Given the description of an element on the screen output the (x, y) to click on. 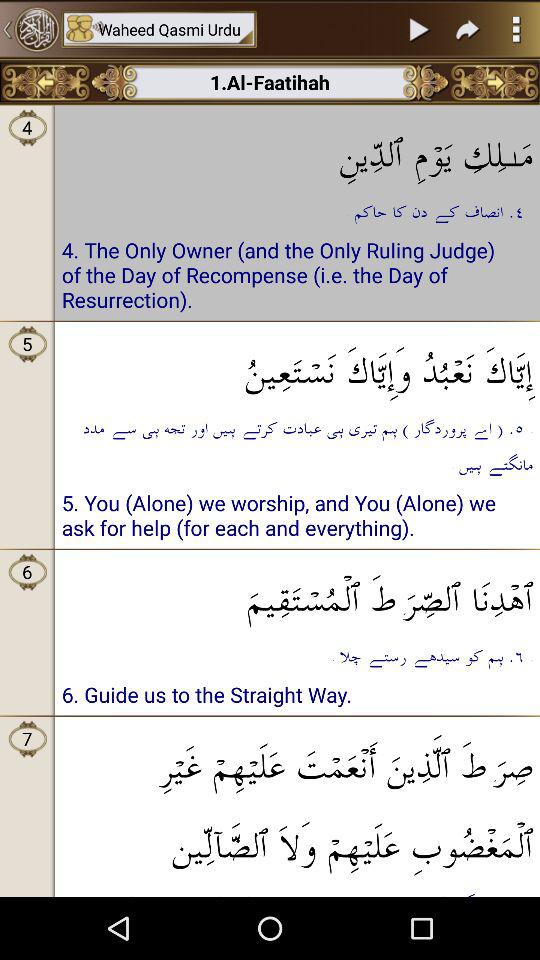
go back (45, 82)
